Given the description of an element on the screen output the (x, y) to click on. 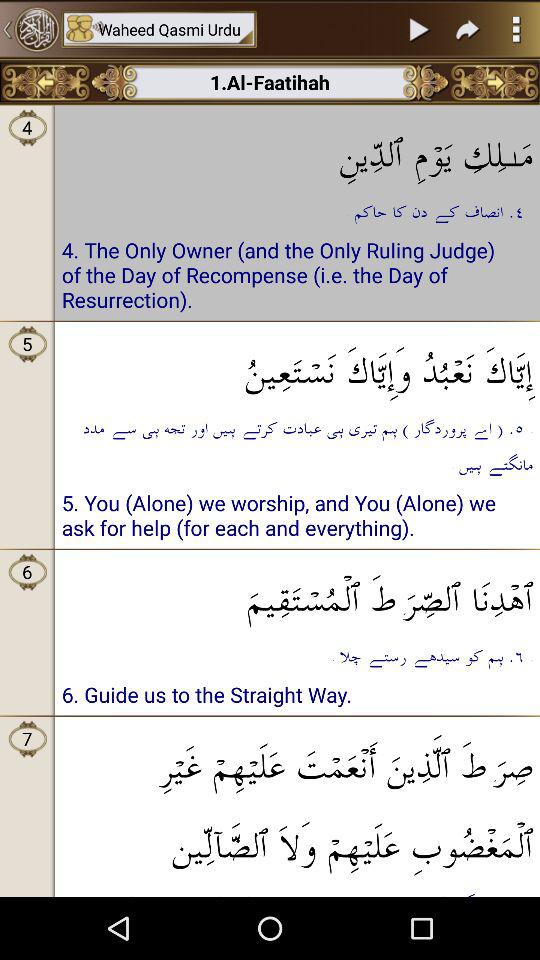
go back (45, 82)
